Given the description of an element on the screen output the (x, y) to click on. 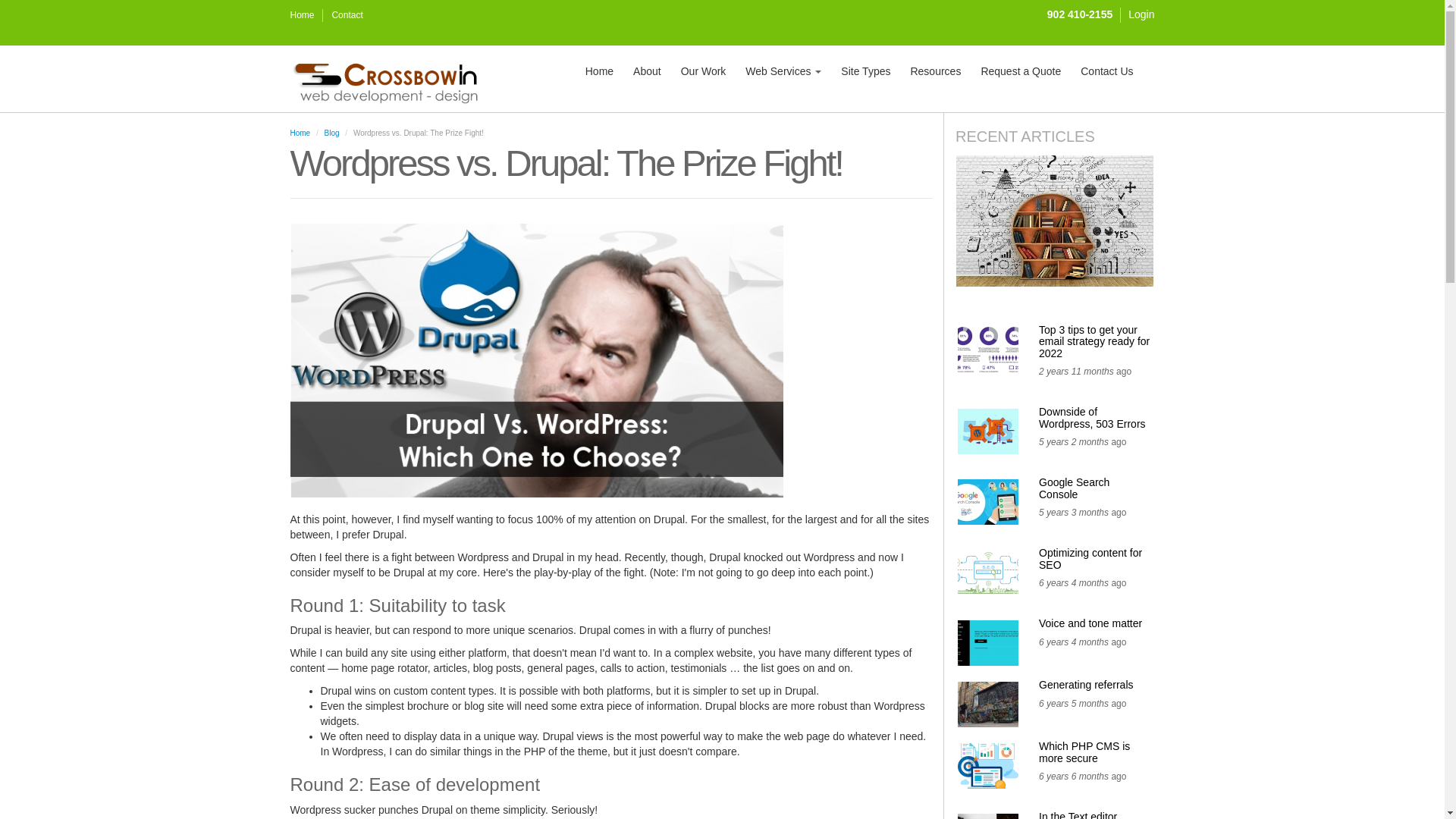
Let people get in touch with you (1106, 79)
Web Services (783, 79)
Login (1141, 14)
Contact (350, 15)
Site Types (865, 79)
Contact Crossbowin Web Design Halifax Nova Scotia Canada  (350, 15)
Login to the site. (1141, 14)
Web Design - Go to the Home Page (305, 15)
Resources (935, 79)
Home (390, 78)
Request a Quote (1020, 79)
Our Work (703, 79)
Home (305, 15)
